Given the description of an element on the screen output the (x, y) to click on. 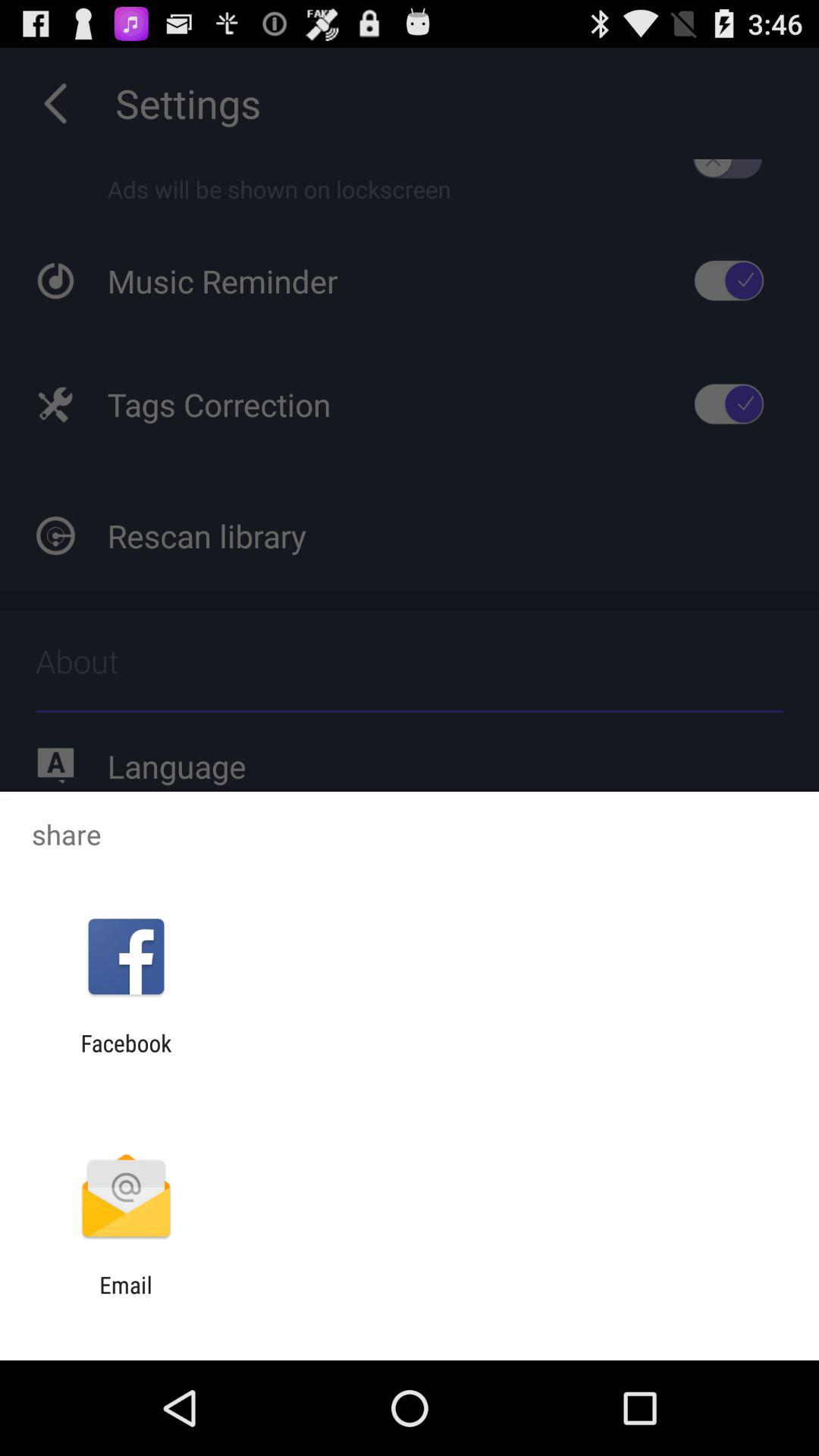
flip until the facebook (125, 1056)
